Given the description of an element on the screen output the (x, y) to click on. 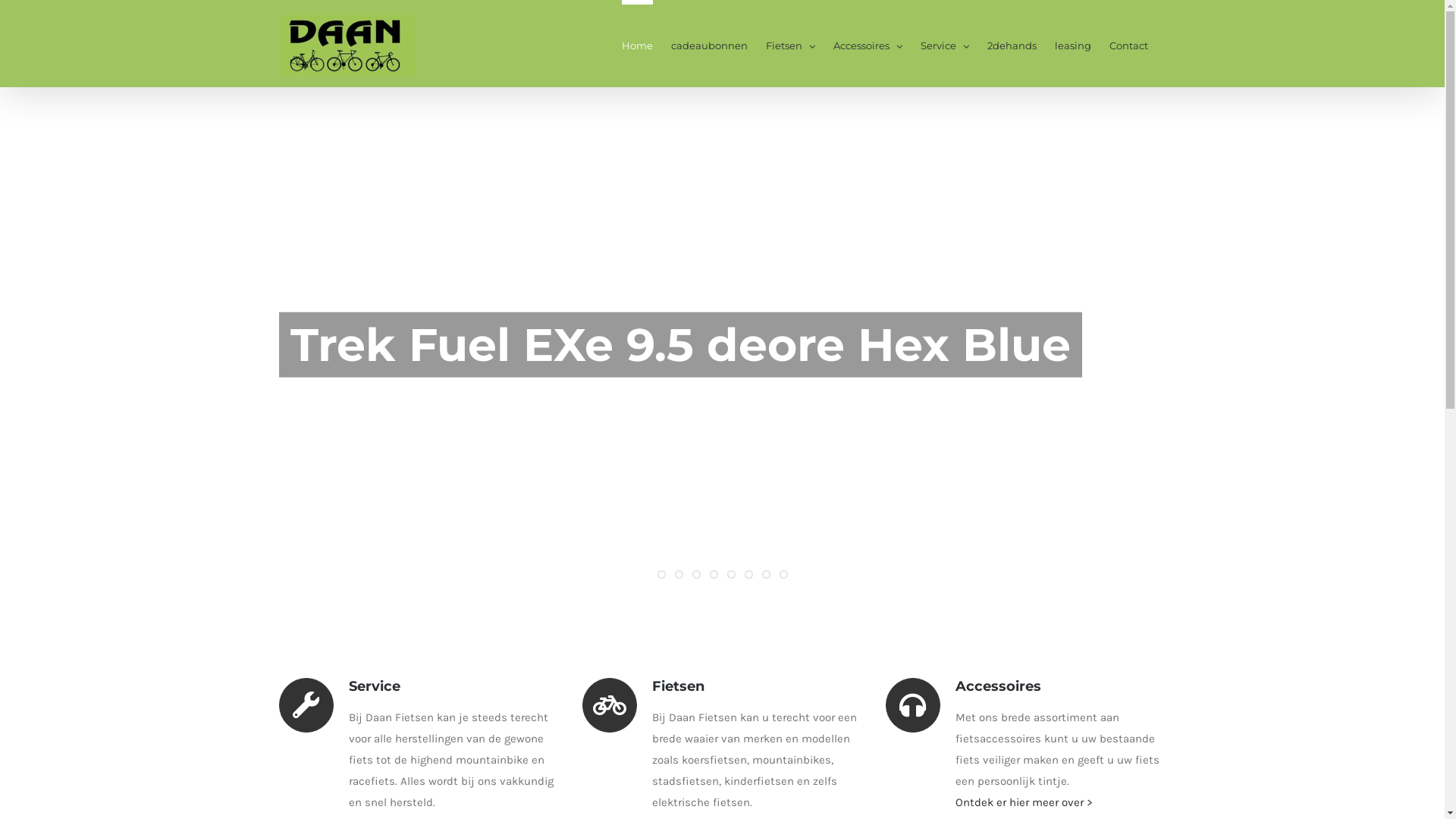
Fietsen Element type: text (643, 686)
leasing Element type: text (1072, 43)
Accessoires Element type: text (866, 43)
7 Element type: text (765, 574)
Ontdek er hier meer over > Element type: text (1023, 802)
Home Element type: text (636, 43)
cadeaubonnen Element type: text (708, 43)
3 Element type: text (695, 574)
6 Element type: text (748, 574)
2 Element type: text (678, 574)
Contact Element type: text (1127, 43)
5 Element type: text (730, 574)
Accessoires Element type: text (963, 686)
1 Element type: text (660, 574)
Fietsen Element type: text (790, 43)
Service Element type: text (944, 43)
2dehands Element type: text (1011, 43)
Service Element type: text (339, 686)
8 Element type: text (783, 574)
4 Element type: text (713, 574)
